Given the description of an element on the screen output the (x, y) to click on. 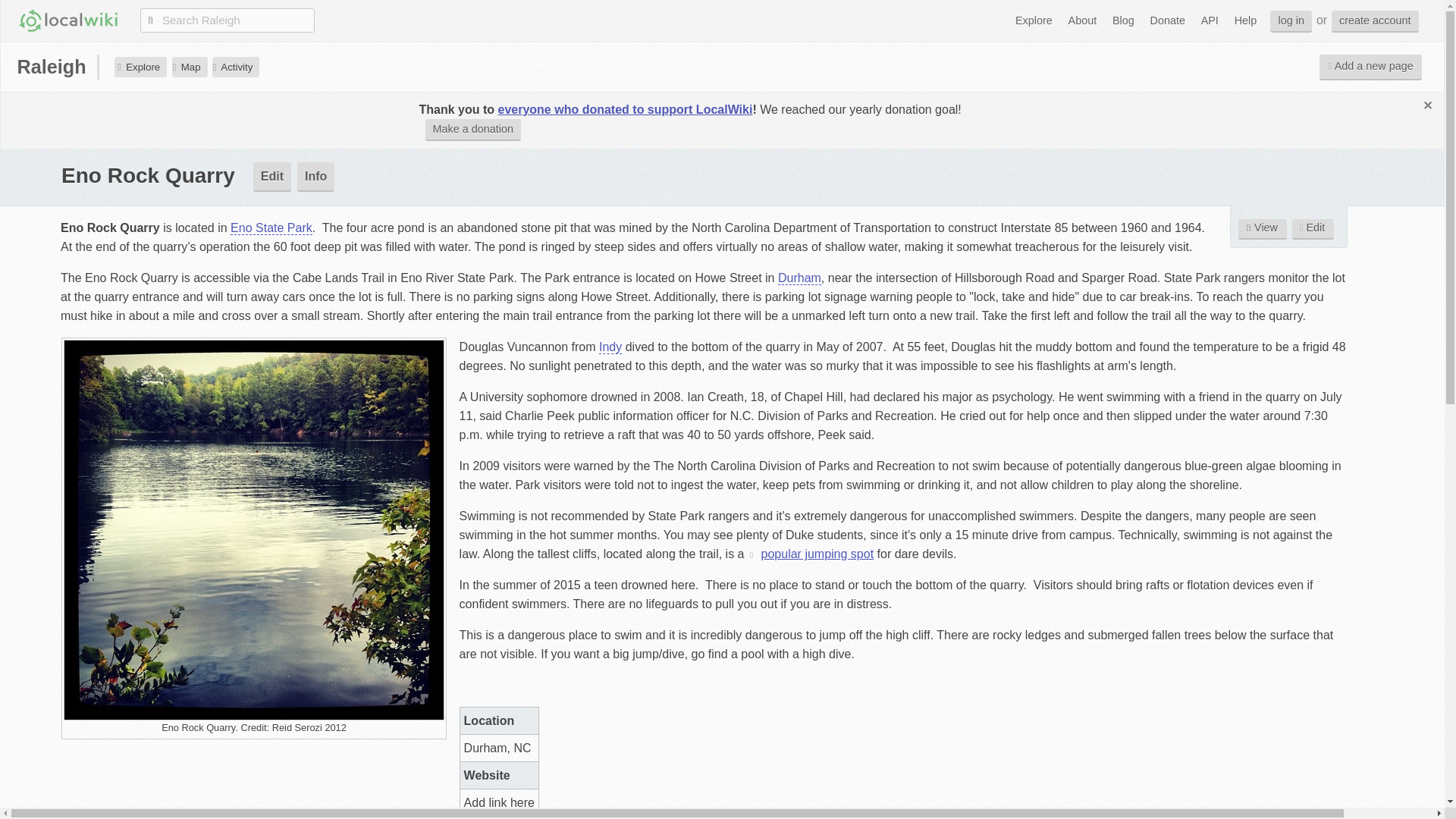
log in (1290, 21)
Make a donation (473, 129)
Info (315, 176)
About (1082, 20)
Explore (141, 66)
Add a new page (1370, 67)
Blog (1123, 20)
popular jumping spot (810, 553)
Raleigh (51, 66)
Explore (1034, 20)
